Given the description of an element on the screen output the (x, y) to click on. 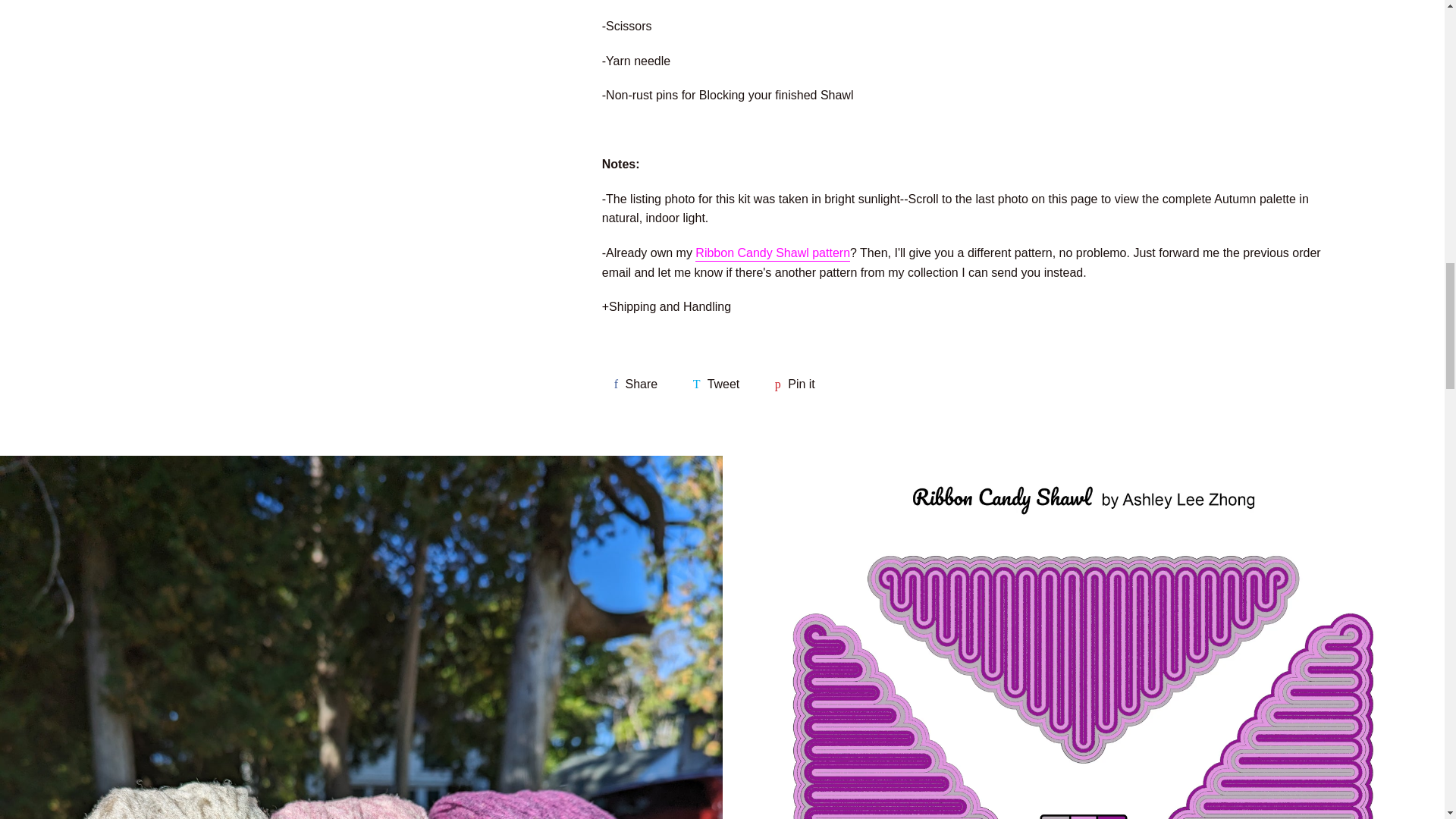
Ribbon Candy Shawl pattern (772, 253)
Pin on Pinterest (794, 384)
Tweet on Twitter (635, 384)
Share on Facebook (716, 384)
